Given the description of an element on the screen output the (x, y) to click on. 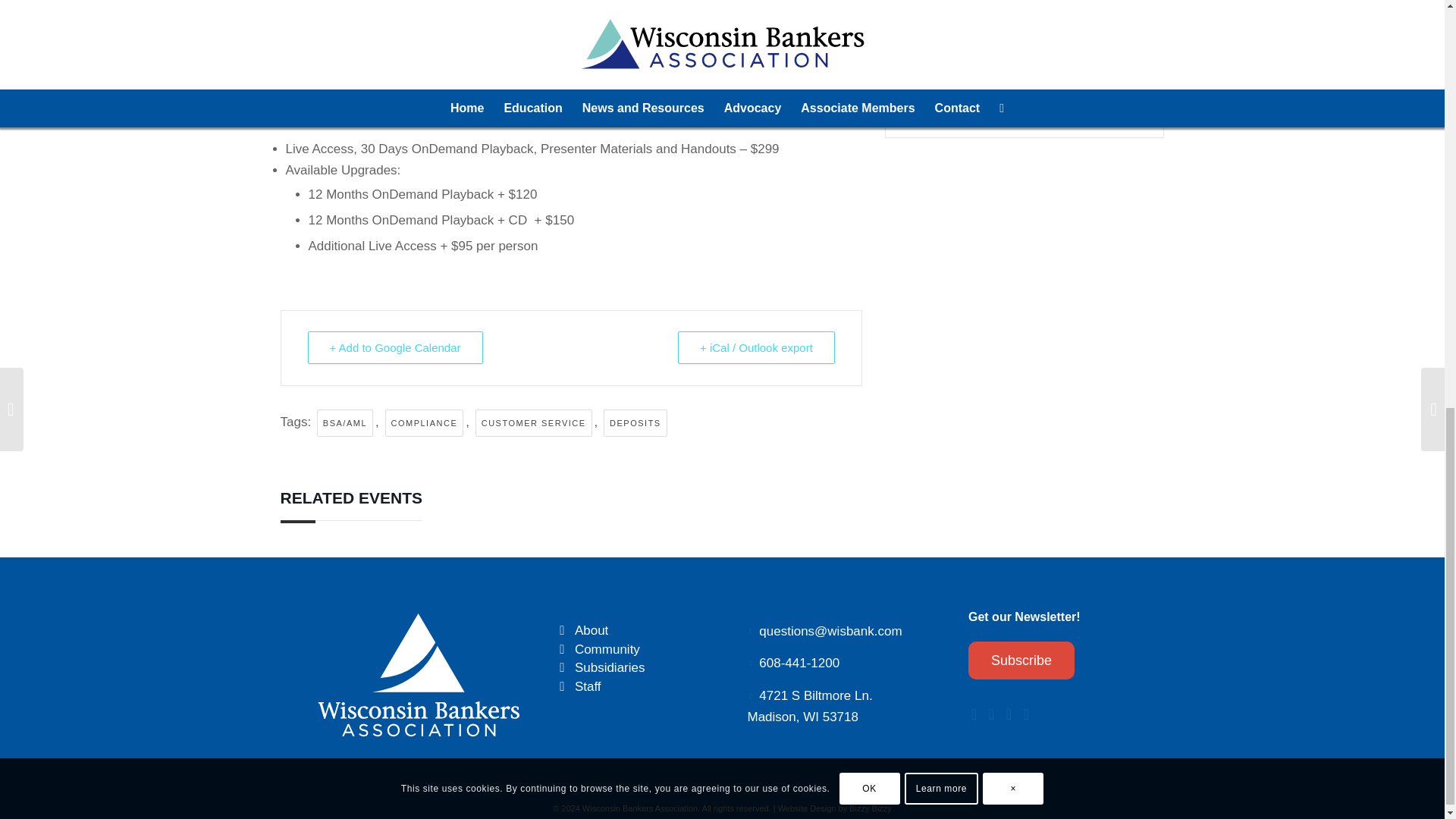
Linkedin (1039, 87)
WBA-Wisconsin-bankers-association-Footer-logo (418, 673)
608-441-1200 (799, 663)
Tweet (1005, 87)
Community (562, 650)
Email (1073, 87)
CUSTOMER SERVICE (534, 422)
COMPLIANCE (424, 422)
Staff (588, 686)
Share on Facebook (971, 87)
Subsidiaries (610, 667)
About (562, 630)
Community (607, 649)
About (591, 630)
About (591, 630)
